Given the description of an element on the screen output the (x, y) to click on. 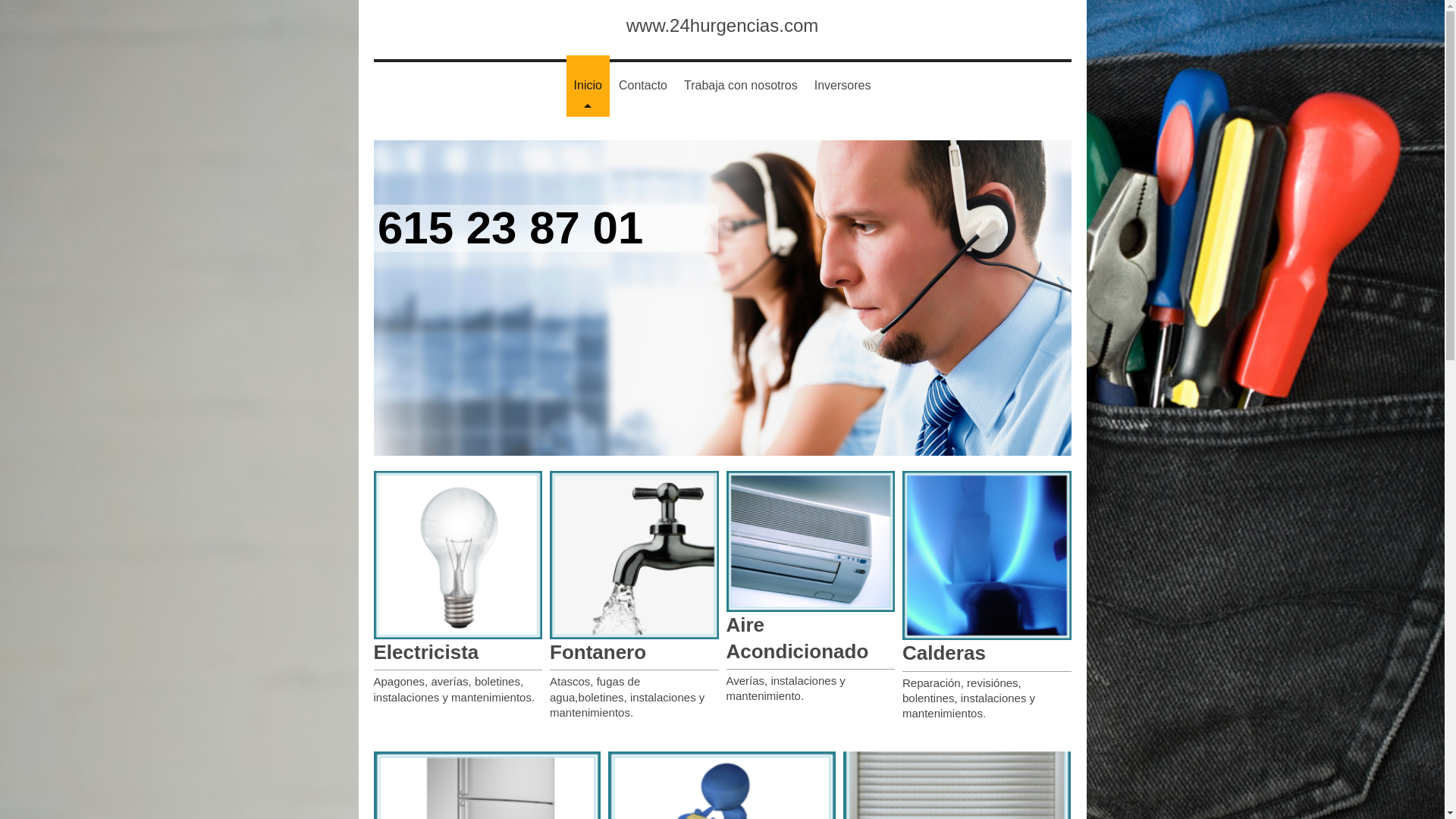
Contacto Element type: text (642, 85)
Trabaja con nosotros Element type: text (740, 85)
www.24hurgencias.com Element type: text (722, 25)
Inversores Element type: text (842, 85)
Inicio Element type: text (587, 85)
